Given the description of an element on the screen output the (x, y) to click on. 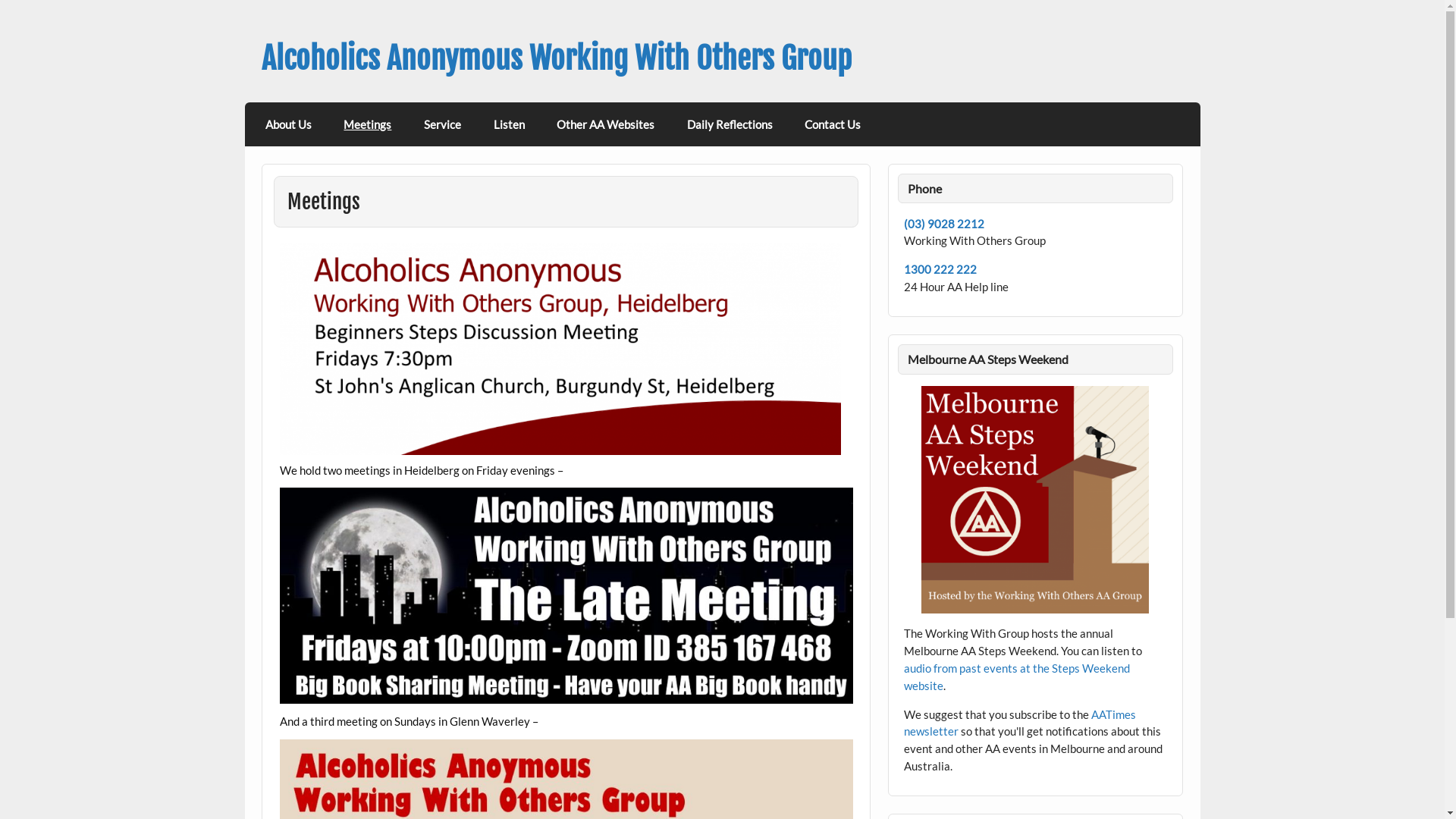
1300 222 222 Element type: text (939, 269)
Daily Reflections Element type: text (729, 124)
(03) 9028 2212 Element type: text (943, 223)
Other AA Websites Element type: text (605, 124)
audio from past events at the Steps Weekend website Element type: text (1016, 676)
AATimes newsletter Element type: text (1019, 722)
Service Element type: text (442, 124)
Contact Us Element type: text (832, 124)
Listen Element type: text (508, 124)
Meetings Element type: text (367, 124)
About Us Element type: text (288, 124)
